Given the description of an element on the screen output the (x, y) to click on. 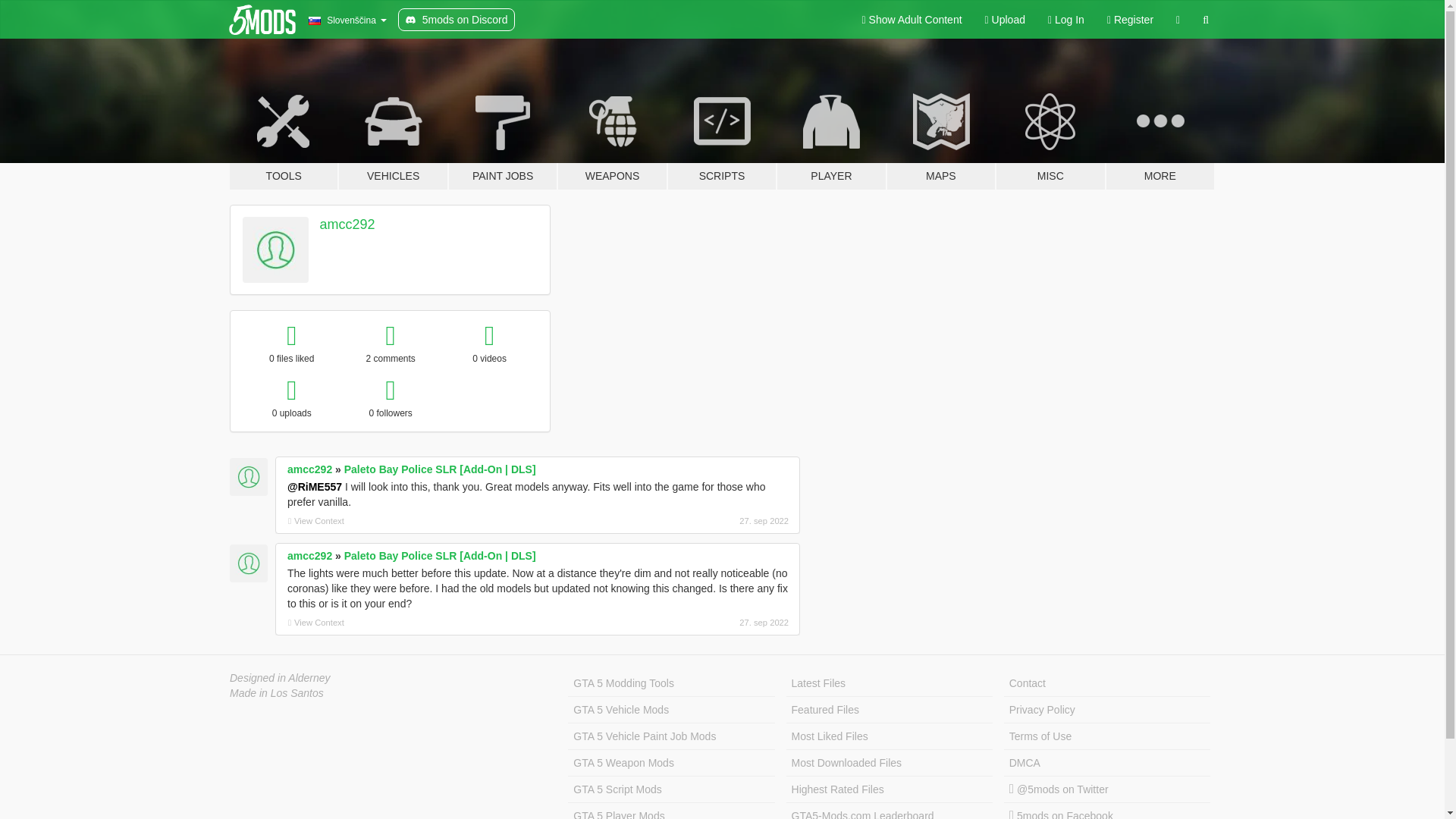
5mods on Facebook (1106, 811)
5mods on Discord (456, 19)
Show Adult Content (912, 19)
torek, 27 sep 2022 ob 04:06:01 (708, 622)
Upload (1005, 19)
torek, 27 sep 2022 ob 11:30:05 (708, 520)
Light mode (912, 19)
Log In (1066, 19)
Register (1130, 19)
